Given the description of an element on the screen output the (x, y) to click on. 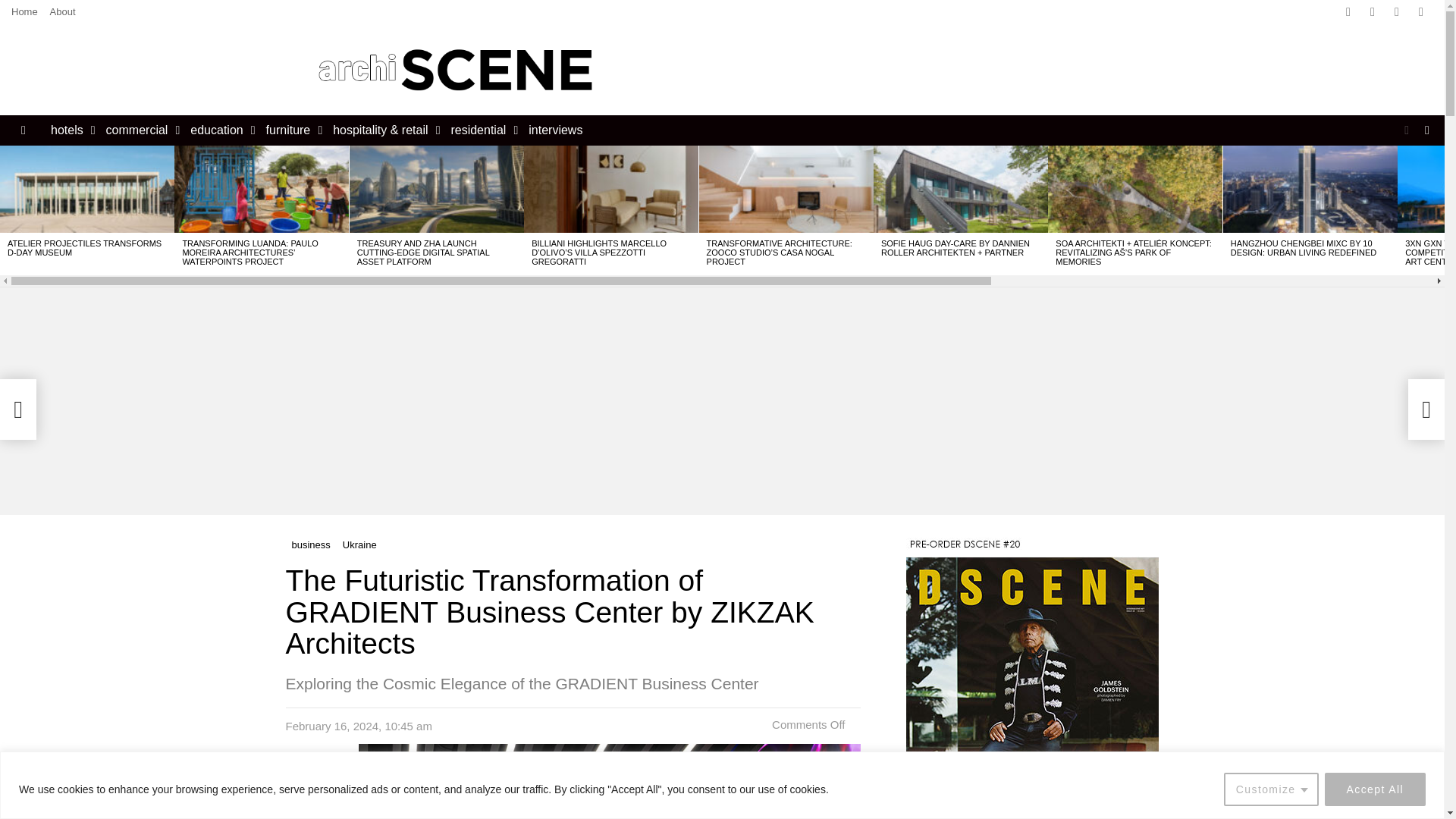
Menu (22, 130)
About (62, 12)
Home (24, 12)
education (218, 129)
Customize (1271, 788)
instagram (1396, 11)
commercial (139, 129)
Twitter (1371, 11)
Facebook (1347, 11)
pinterest (1420, 11)
Advertisement (917, 70)
Accept All (1374, 788)
hotels (69, 129)
